Given the description of an element on the screen output the (x, y) to click on. 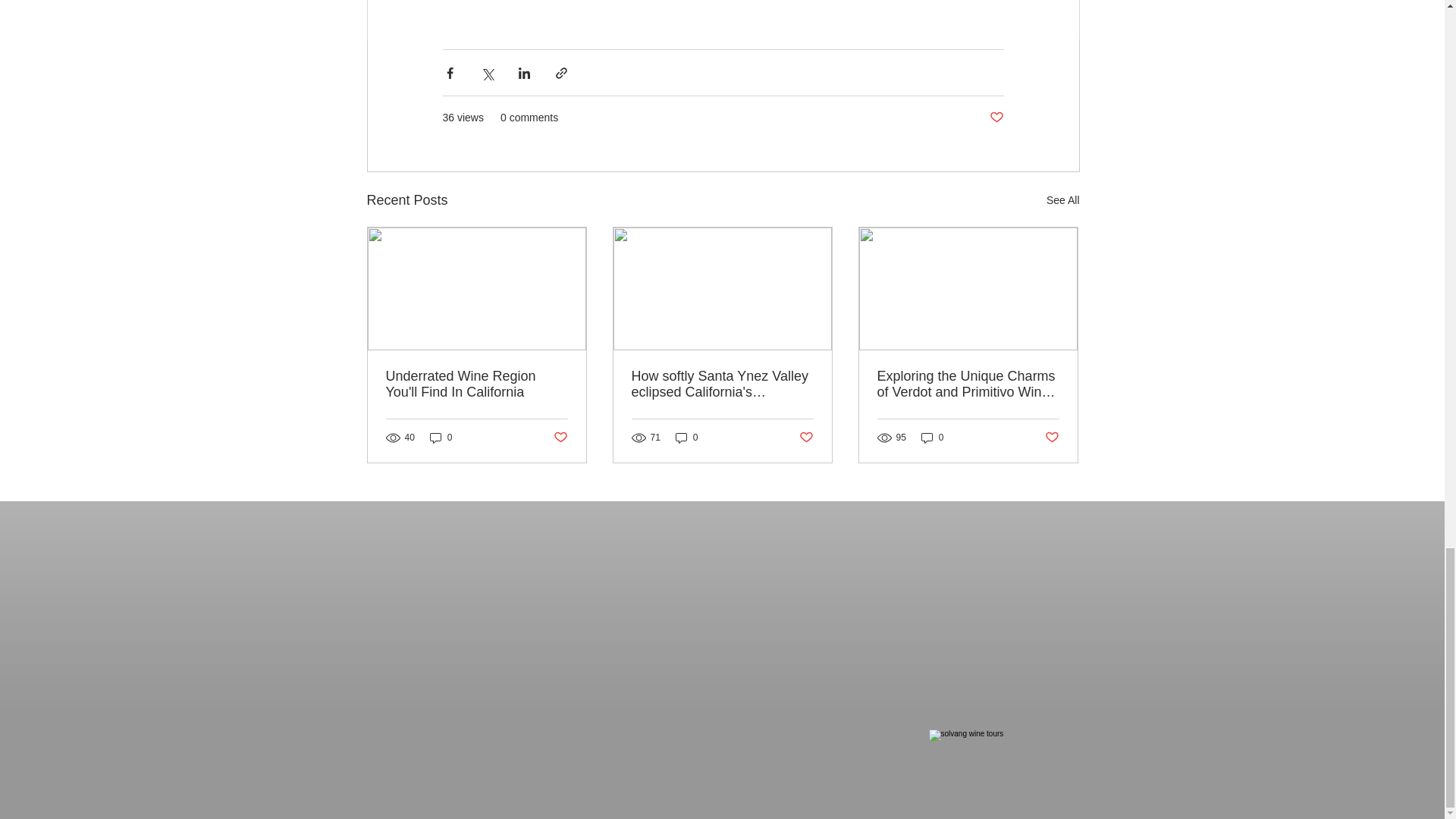
0 (687, 437)
0 (441, 437)
Post not marked as liked (1052, 437)
See All (1063, 200)
0 (932, 437)
Underrated Wine Region You'll Find In California (476, 384)
Post not marked as liked (995, 117)
Post not marked as liked (806, 437)
Post not marked as liked (560, 437)
